Given the description of an element on the screen output the (x, y) to click on. 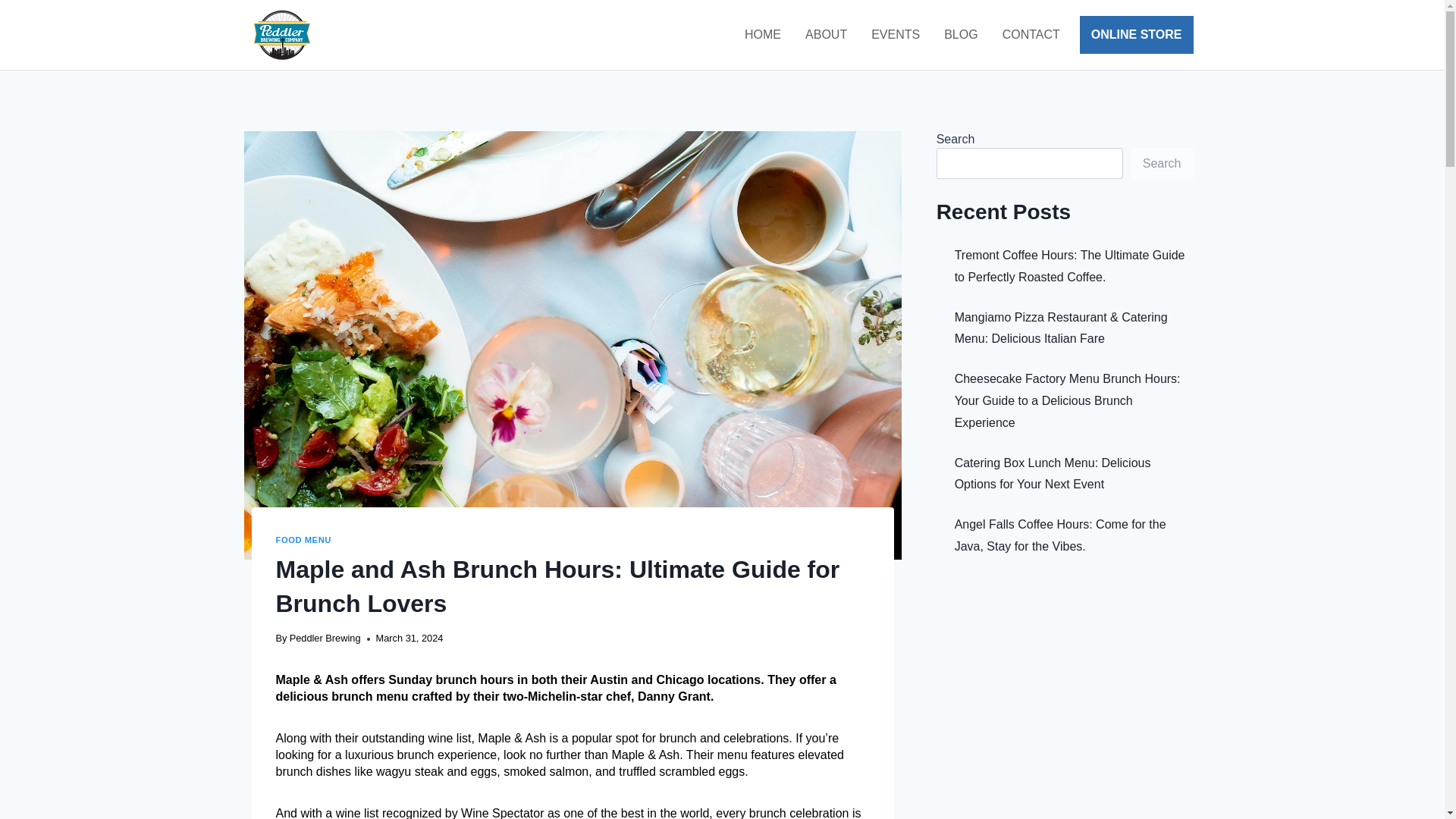
FOOD MENU (303, 539)
ABOUT (826, 34)
BLOG (960, 34)
HOME (762, 34)
EVENTS (895, 34)
ONLINE STORE (1136, 34)
Peddler Brewing (325, 637)
CONTACT (1030, 34)
